Given the description of an element on the screen output the (x, y) to click on. 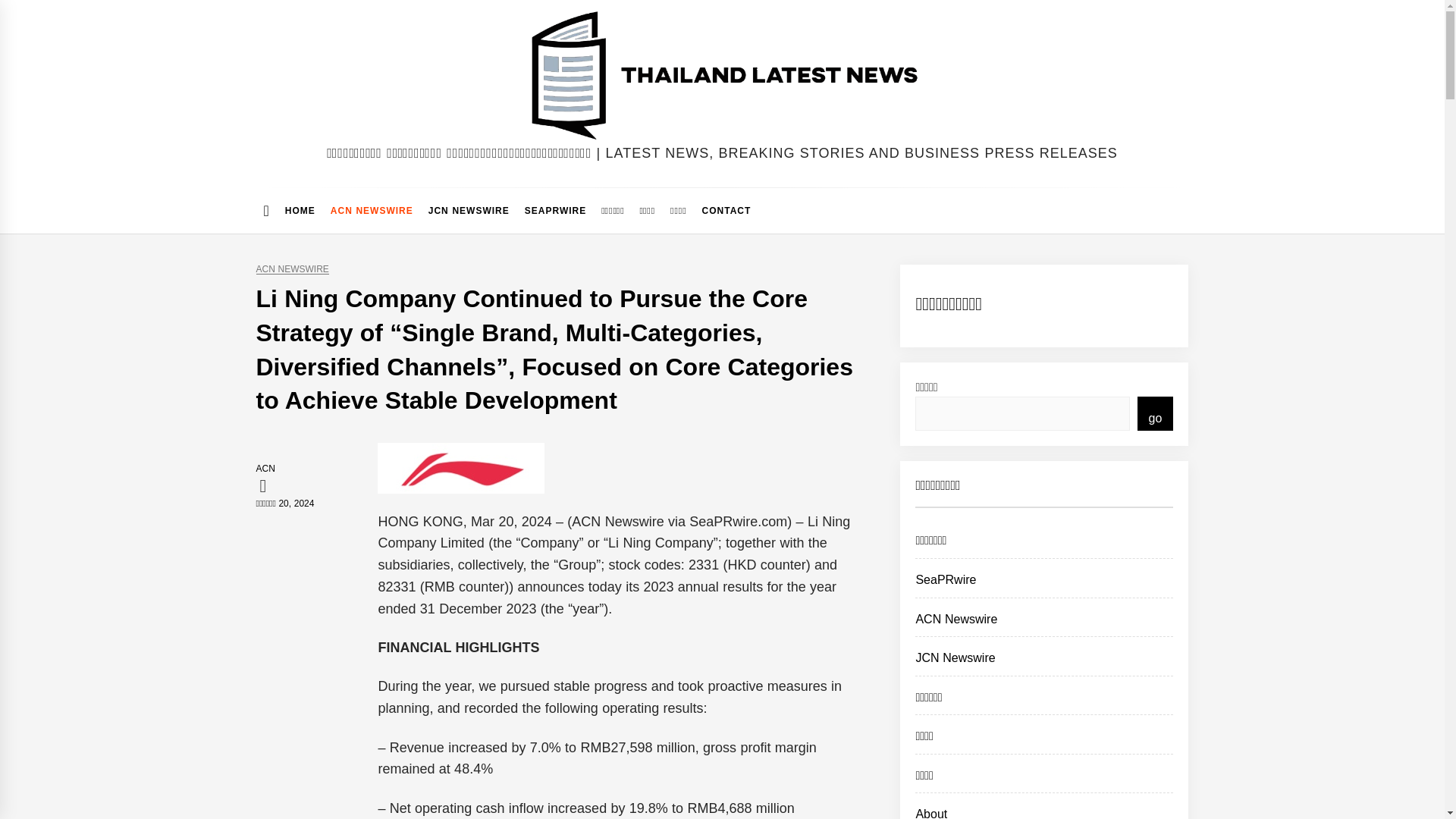
ACN NEWSWIRE (292, 269)
ACN Newswire (1044, 623)
THAILAND LATEST (685, 198)
HOME (300, 210)
ACN NEWSWIRE (371, 210)
About (1044, 811)
SEAPRWIRE (555, 210)
go (1155, 413)
ACN (265, 468)
CONTACT (726, 210)
